Given the description of an element on the screen output the (x, y) to click on. 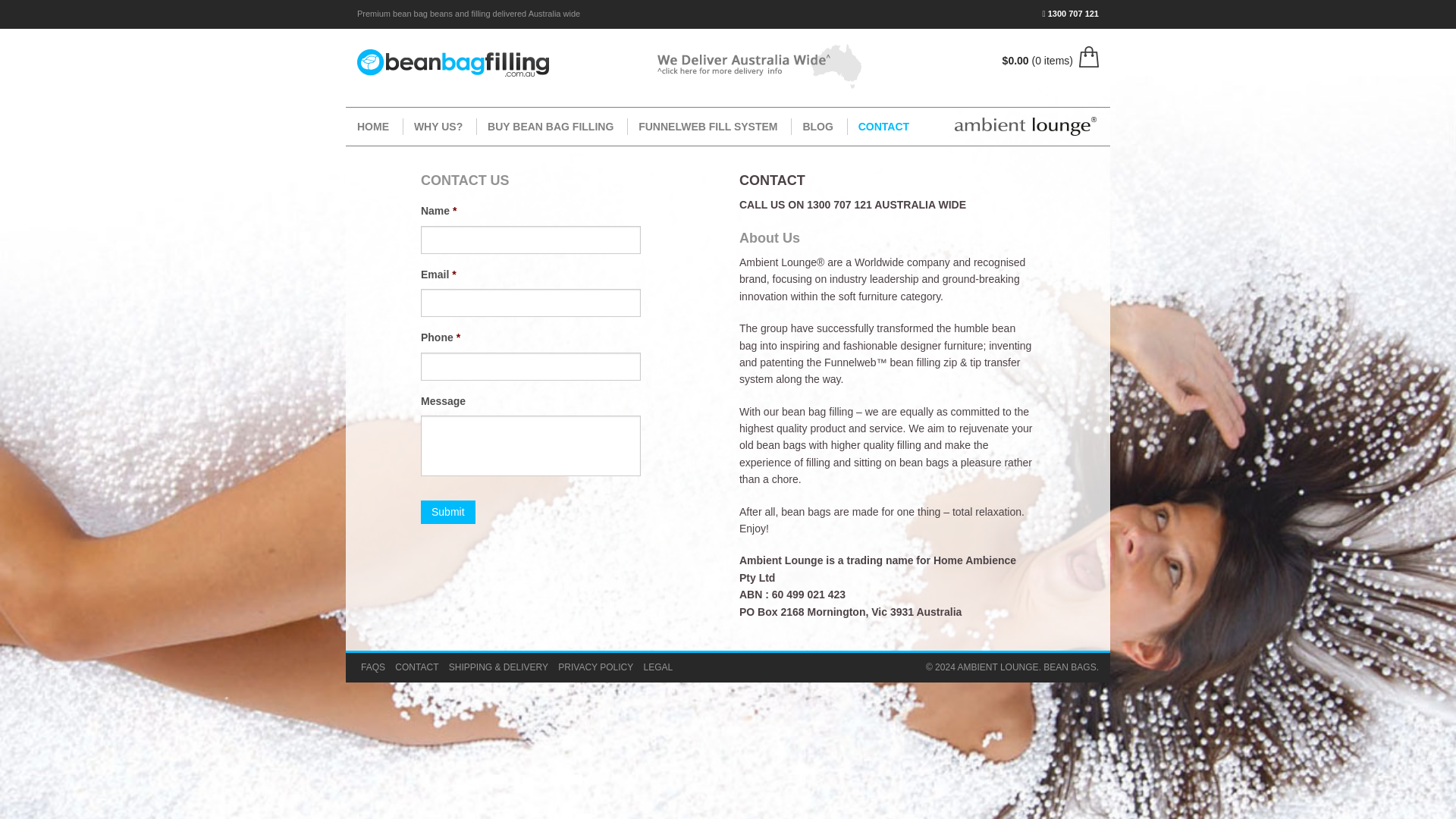
WHY US? (438, 126)
FUNNELWEB FILL SYSTEM (707, 126)
BLOG (816, 126)
PRIVACY POLICY (595, 666)
CONTACT (883, 126)
1300 707 121 (1070, 13)
delivery-au-wide (759, 66)
LEGAL (657, 666)
BUY BEAN BAG FILLING (550, 126)
AMBIENT LOUNGE (997, 666)
BEAN BAGS (1069, 666)
Submit (448, 512)
FAQS (373, 666)
CONTACT (416, 666)
Submit (448, 512)
